Given the description of an element on the screen output the (x, y) to click on. 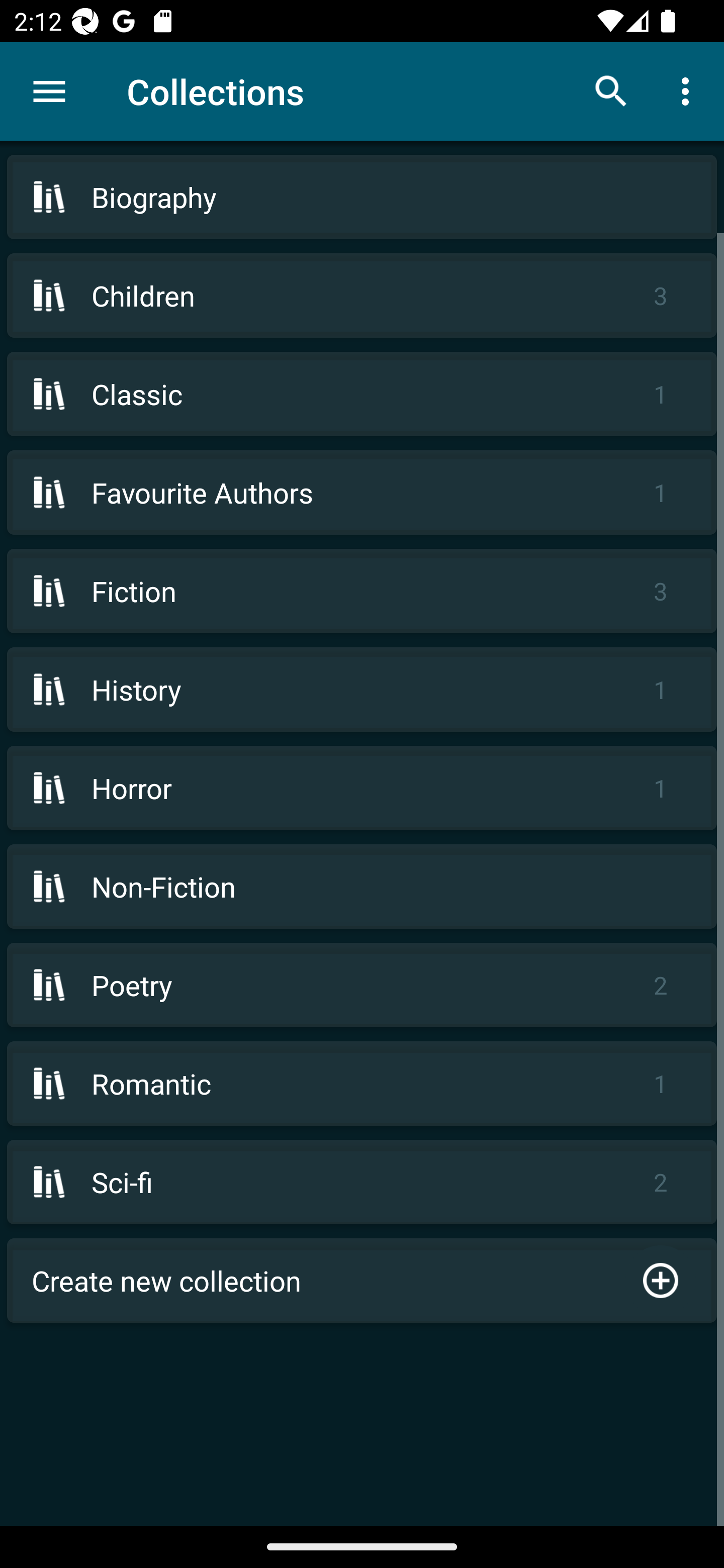
Menu (49, 91)
Search books & documents (611, 90)
More options (688, 90)
Biography (361, 197)
Children 3 (361, 295)
Classic 1 (361, 393)
Favourite Authors 1 (361, 492)
Fiction 3 (361, 590)
History 1 (361, 689)
Horror 1 (361, 787)
Non-Fiction (361, 885)
Poetry 2 (361, 984)
Romantic 1 (361, 1083)
Sci-fi 2 (361, 1181)
Create new collection (361, 1280)
